Given the description of an element on the screen output the (x, y) to click on. 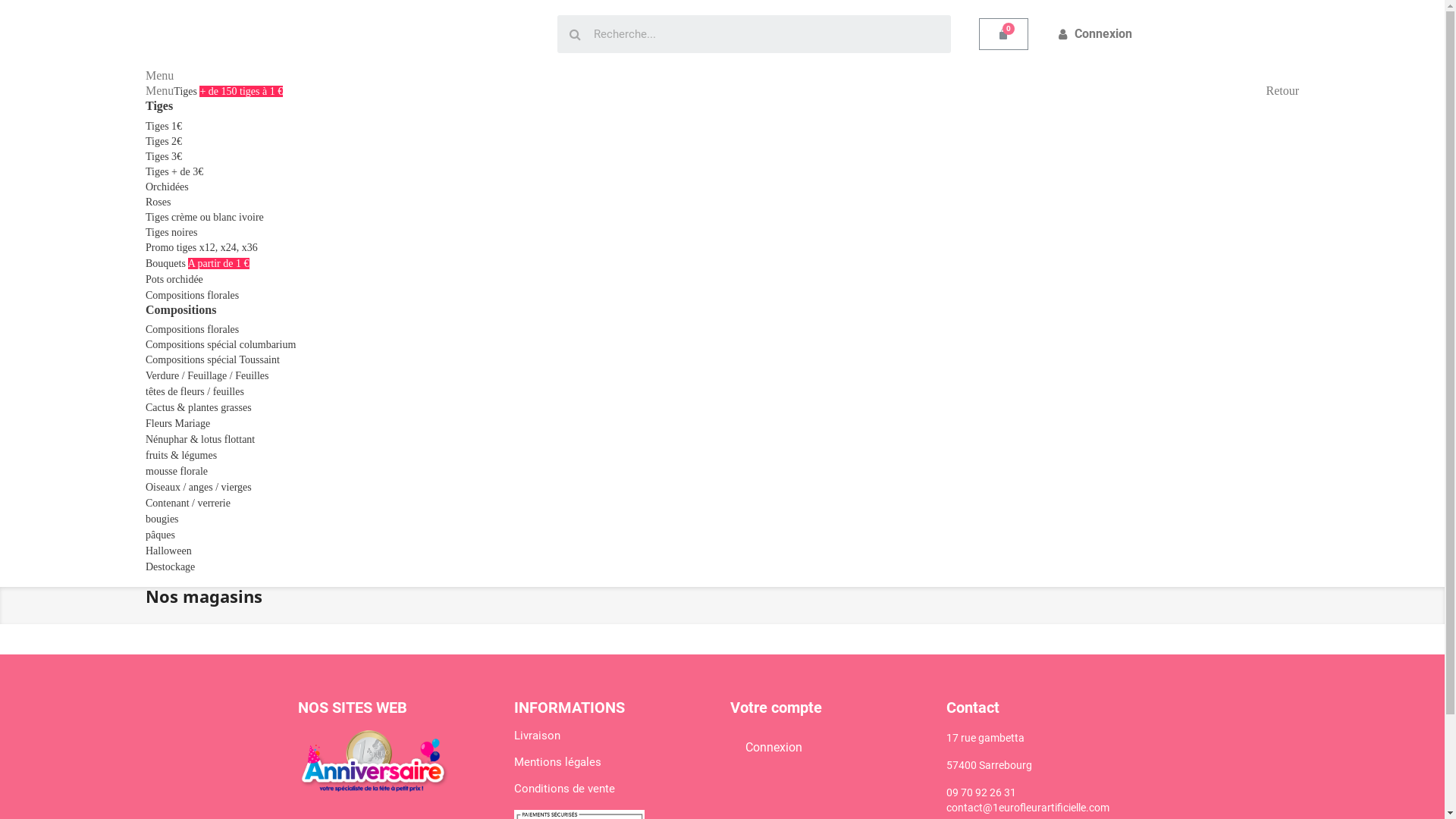
mousse florale Element type: text (176, 470)
Tiges noires Element type: text (171, 232)
Cactus & plantes grasses Element type: text (198, 407)
Compositions florales Element type: text (191, 329)
Halloween Element type: text (168, 550)
Connexion Element type: text (1095, 33)
Contenant / verrerie Element type: text (187, 502)
Destockage Element type: text (169, 566)
Connexion Element type: text (772, 747)
bougies Element type: text (161, 518)
Oiseaux / anges / vierges Element type: text (198, 486)
Fleurs Mariage Element type: text (177, 423)
Livraison Element type: text (537, 735)
Compositions florales Element type: text (191, 295)
Roses Element type: text (157, 201)
Verdure / Feuillage / Feuilles Element type: text (207, 375)
Conditions de vente Element type: text (564, 788)
Promo tiges x12, x24, x36 Element type: text (201, 247)
